Given the description of an element on the screen output the (x, y) to click on. 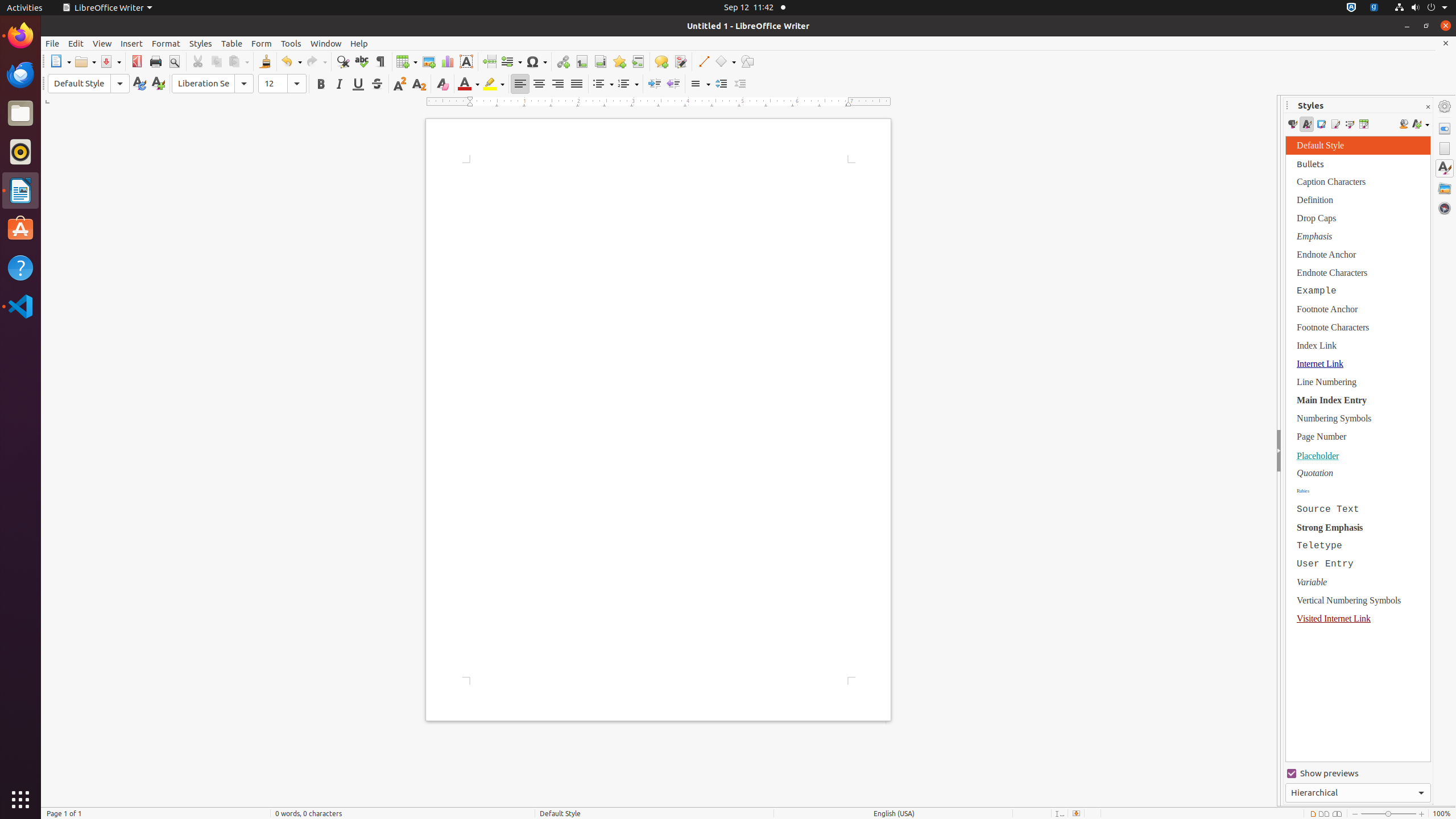
Left Element type: toggle-button (519, 83)
Print Element type: push-button (155, 61)
LibreOffice Writer Element type: menu (106, 7)
Draw Functions Element type: push-button (746, 61)
Increase Element type: push-button (721, 83)
